Given the description of an element on the screen output the (x, y) to click on. 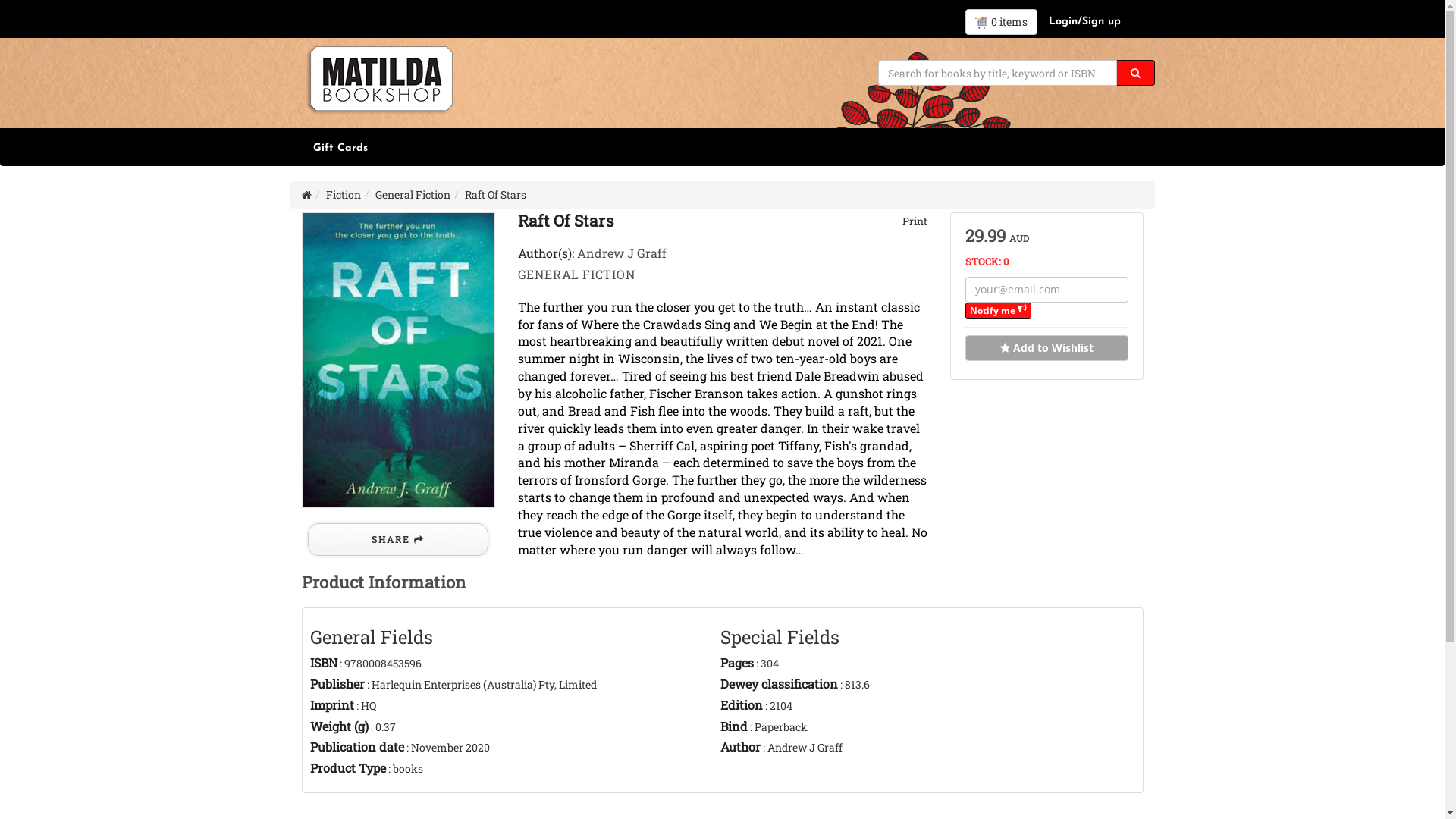
Add to Wishlist Element type: text (1045, 347)
Gift Cards Element type: text (340, 148)
Login/Sign up Element type: text (1084, 21)
Andrew J Graff Element type: text (620, 252)
SHARE Element type: text (397, 539)
Notify me Element type: text (997, 310)
Raft Of Stars Element type: hover (398, 360)
0 items Element type: text (1000, 21)
Fiction Element type: text (343, 194)
General Fiction Element type: text (411, 194)
0 items Element type: text (1000, 21)
GENERAL FICTION Element type: text (575, 274)
 Print Element type: text (912, 220)
